Given the description of an element on the screen output the (x, y) to click on. 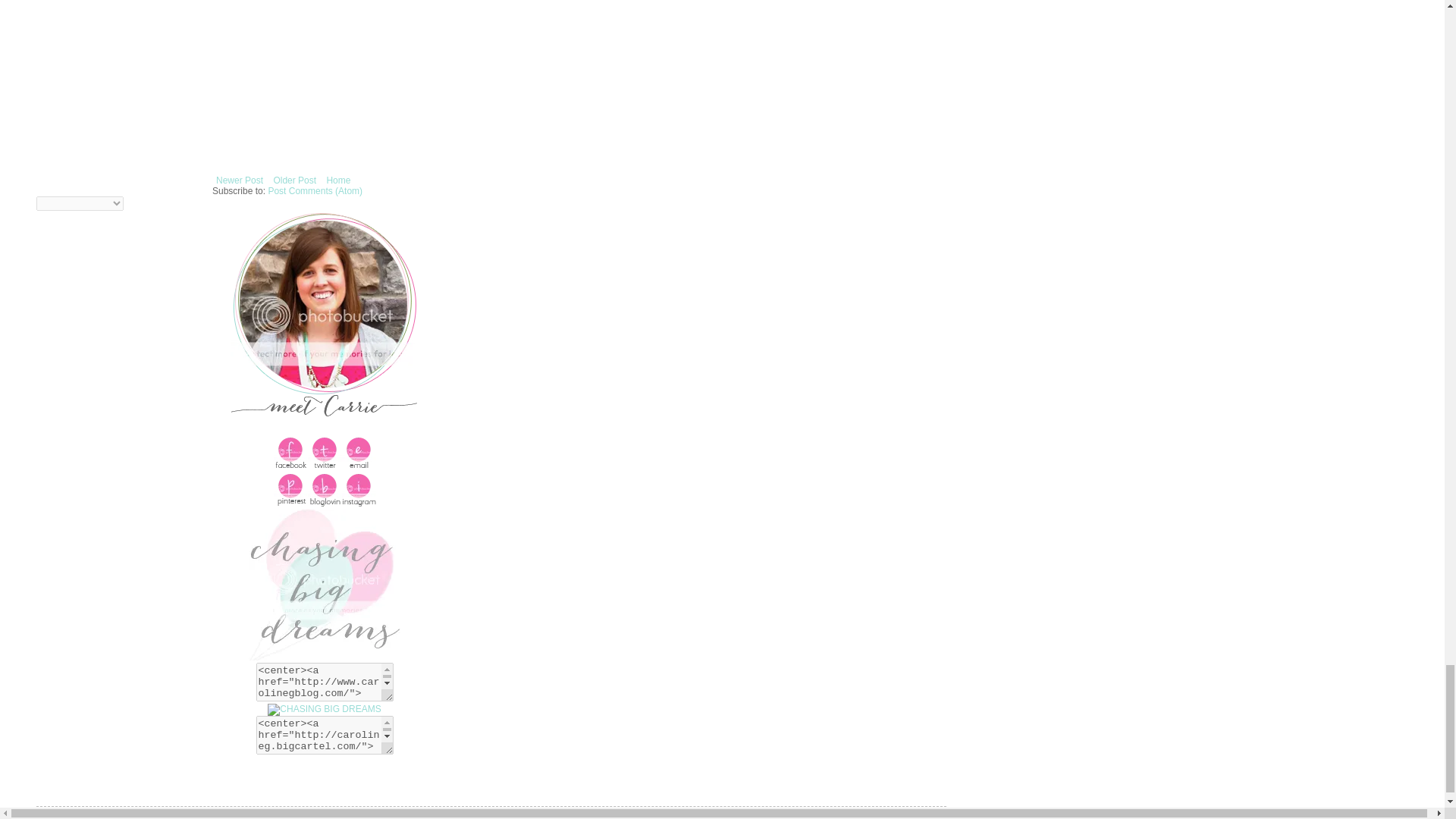
Newer Post (239, 180)
Older Post (294, 180)
